Given the description of an element on the screen output the (x, y) to click on. 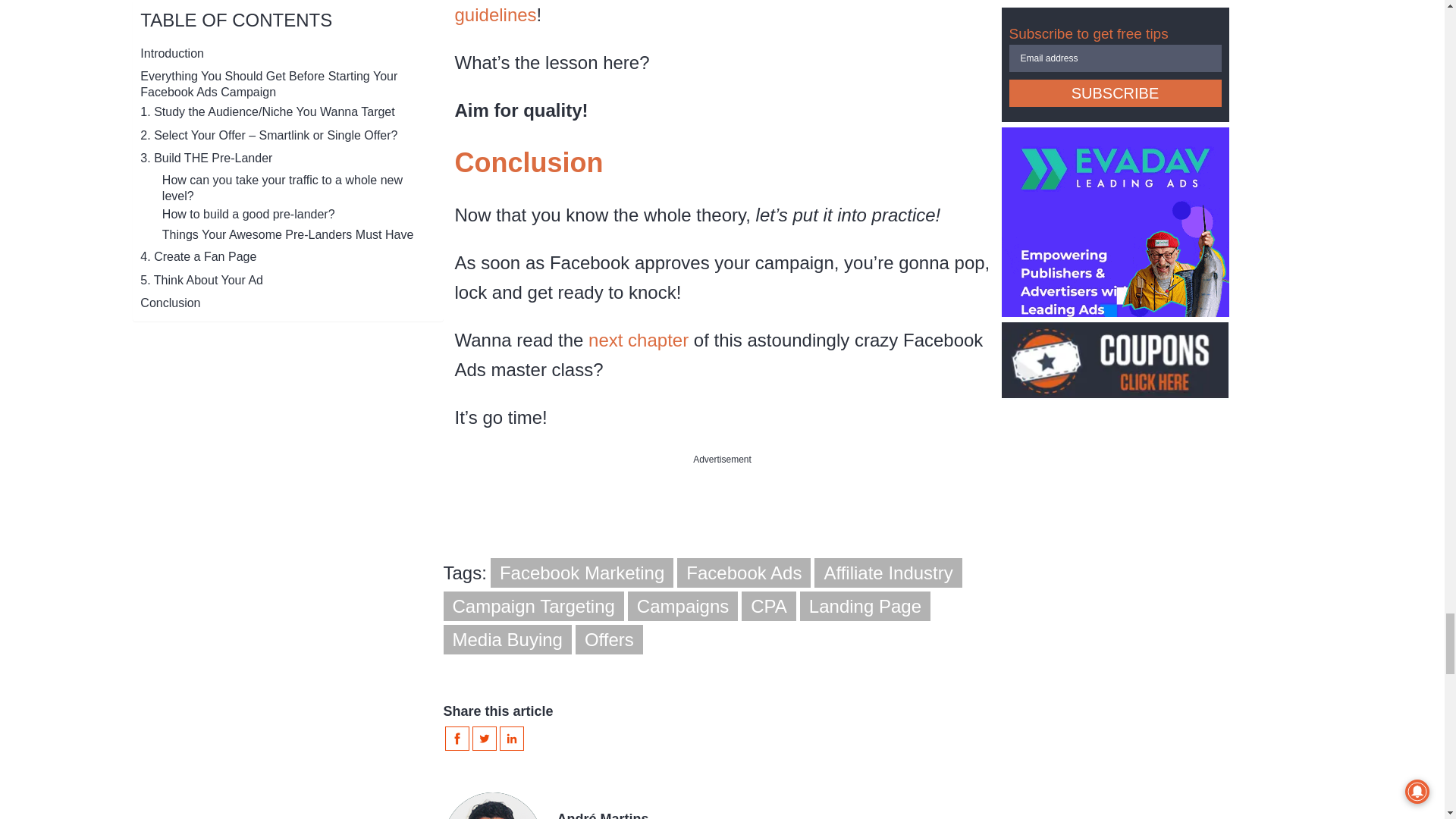
banner placement 2 (722, 527)
Facebook (456, 740)
LinkedIn (510, 740)
Twitter (483, 740)
